Given the description of an element on the screen output the (x, y) to click on. 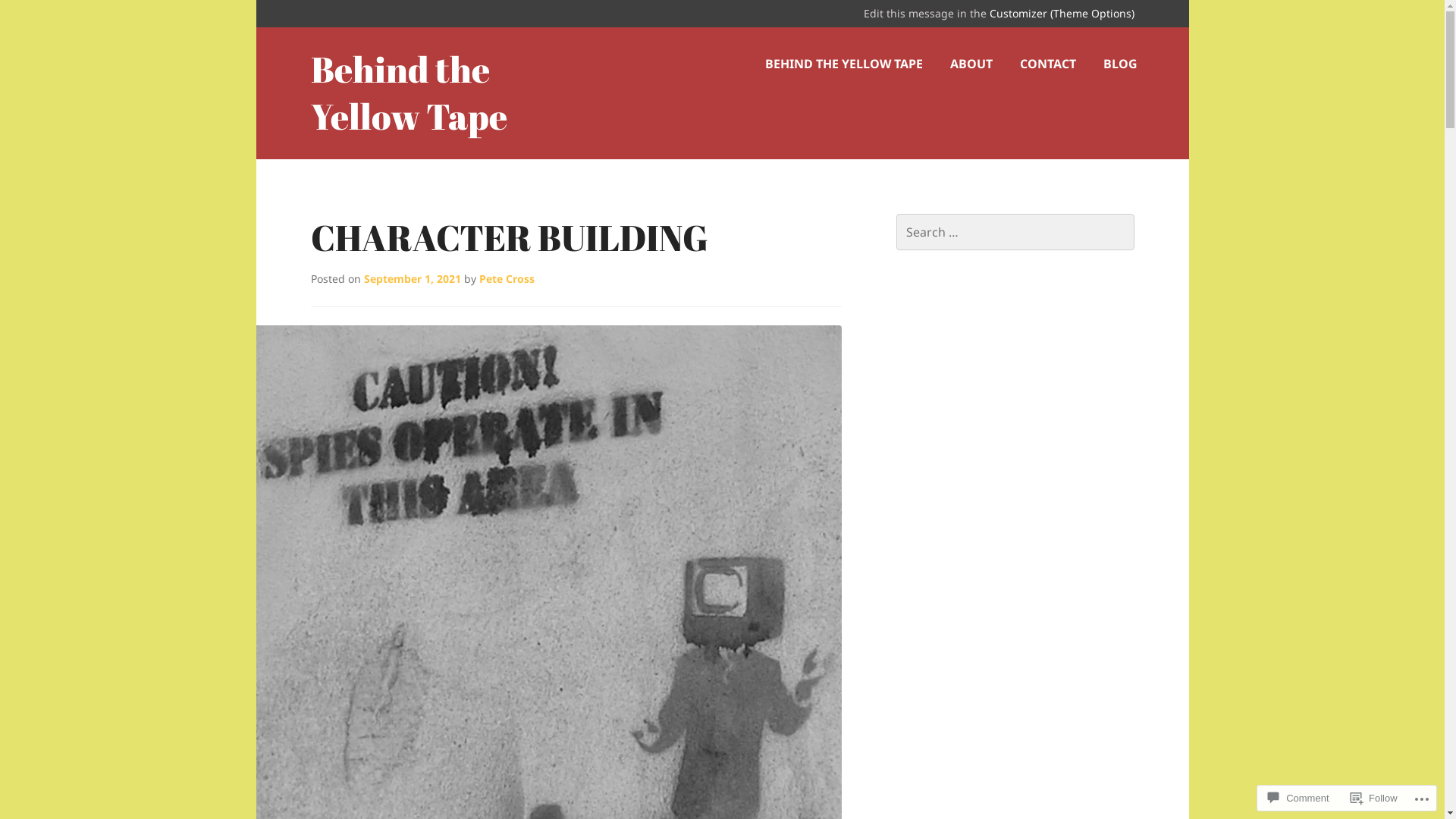
Behind the Yellow Tape Element type: text (408, 92)
Follow Element type: text (1373, 797)
Comment Element type: text (1297, 797)
September 1, 2021 Element type: text (412, 278)
BLOG Element type: text (1119, 63)
Pete Cross Element type: text (506, 278)
CONTACT Element type: text (1047, 63)
Customizer (Theme Options) Element type: text (1060, 13)
Search Element type: text (43, 18)
ABOUT Element type: text (970, 63)
BEHIND THE YELLOW TAPE Element type: text (843, 63)
